Given the description of an element on the screen output the (x, y) to click on. 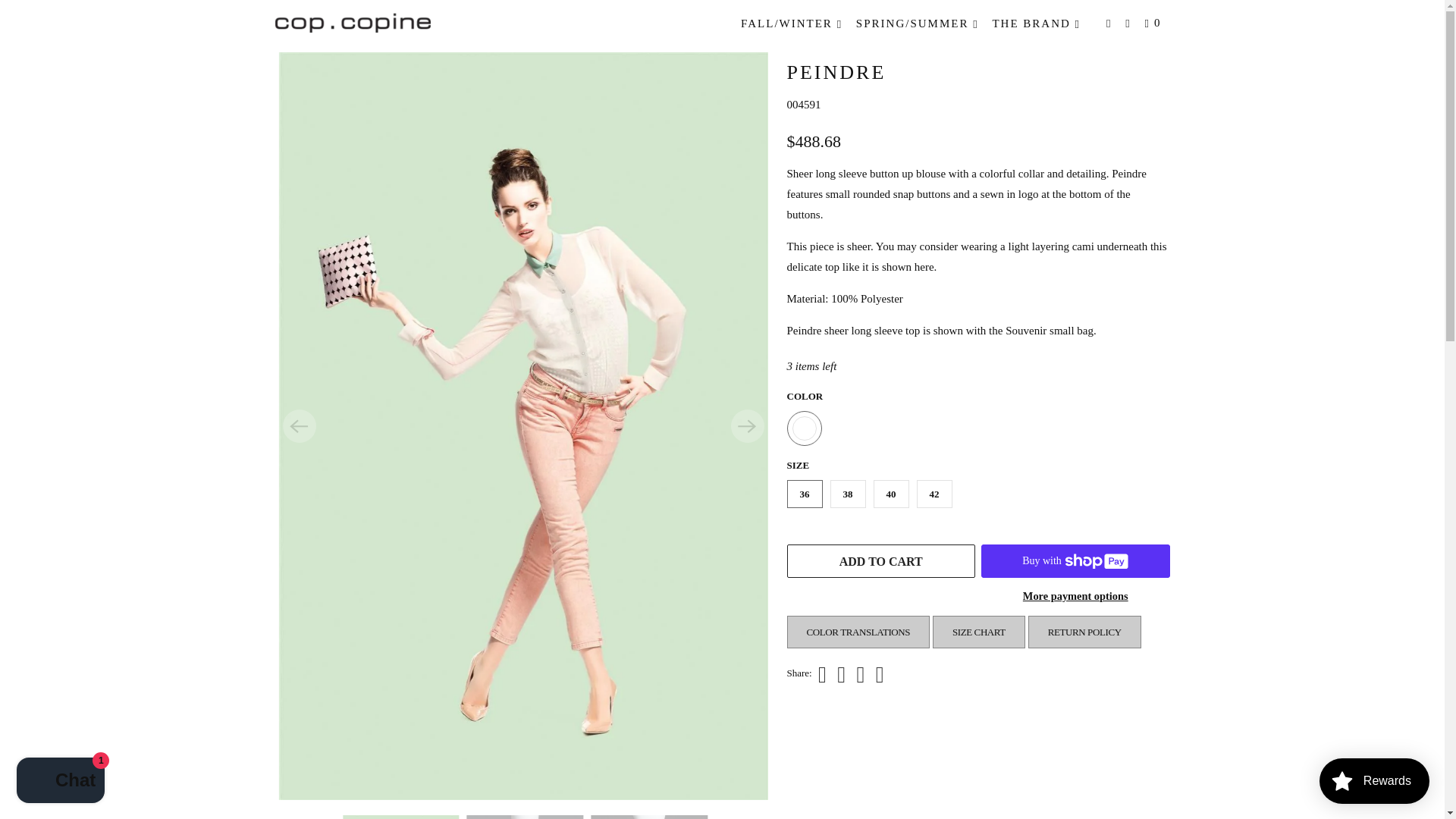
Cop Copine US (287, 30)
Cop Copine US (352, 22)
Products (327, 30)
